Given the description of an element on the screen output the (x, y) to click on. 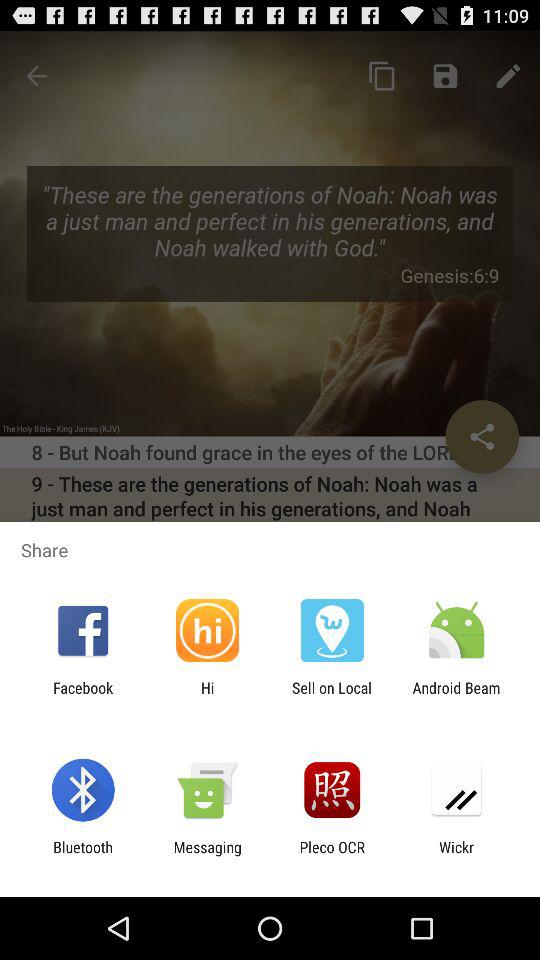
press app next to hi icon (83, 696)
